Given the description of an element on the screen output the (x, y) to click on. 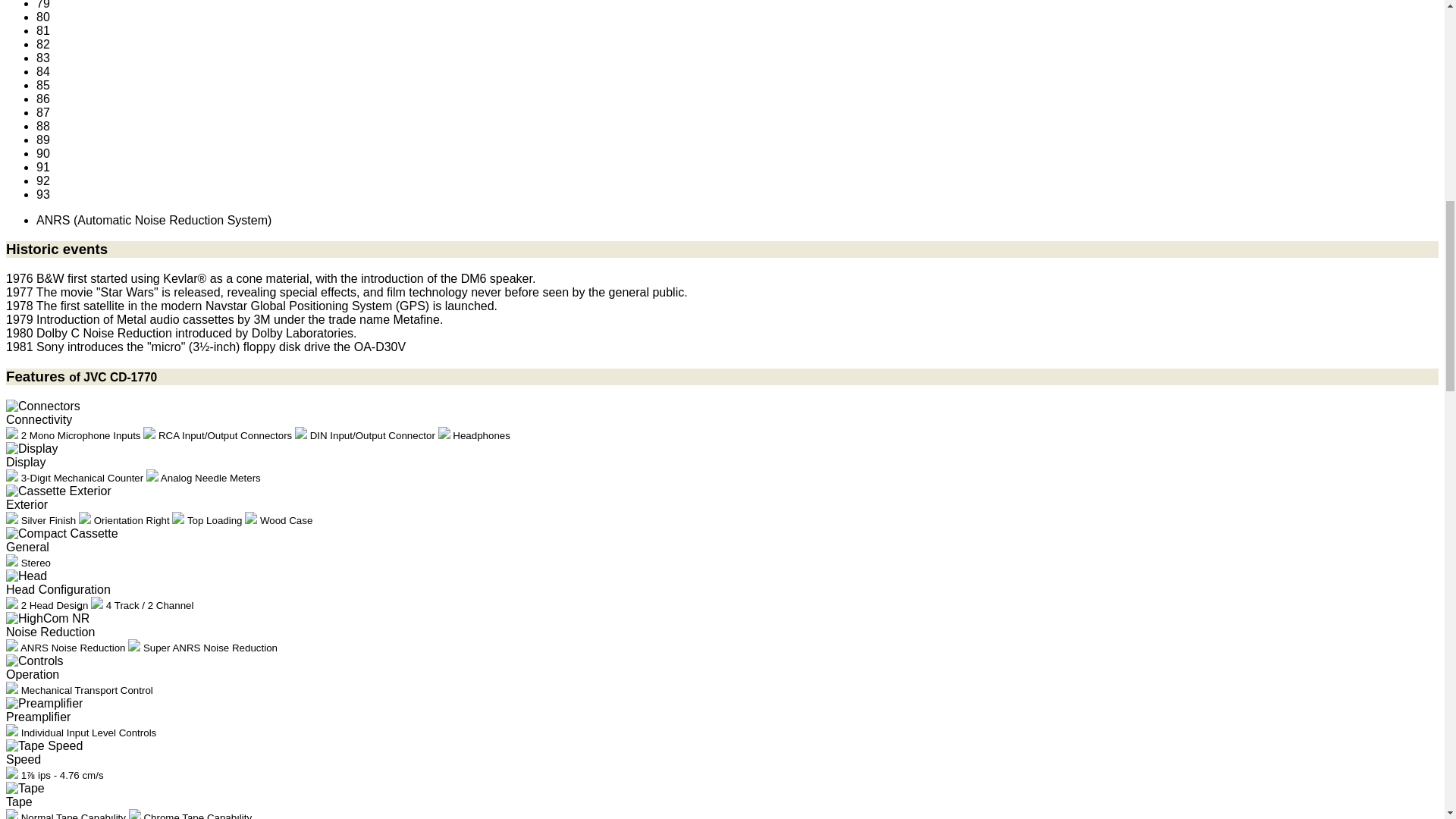
Display (31, 448)
Preamplifier (43, 703)
Cassette Exterior (58, 490)
Tape (25, 788)
HighCom NR (46, 618)
Head (25, 576)
Compact Cassette (61, 533)
Tape Speed (43, 745)
Controls (34, 661)
Connectors (42, 406)
